Given the description of an element on the screen output the (x, y) to click on. 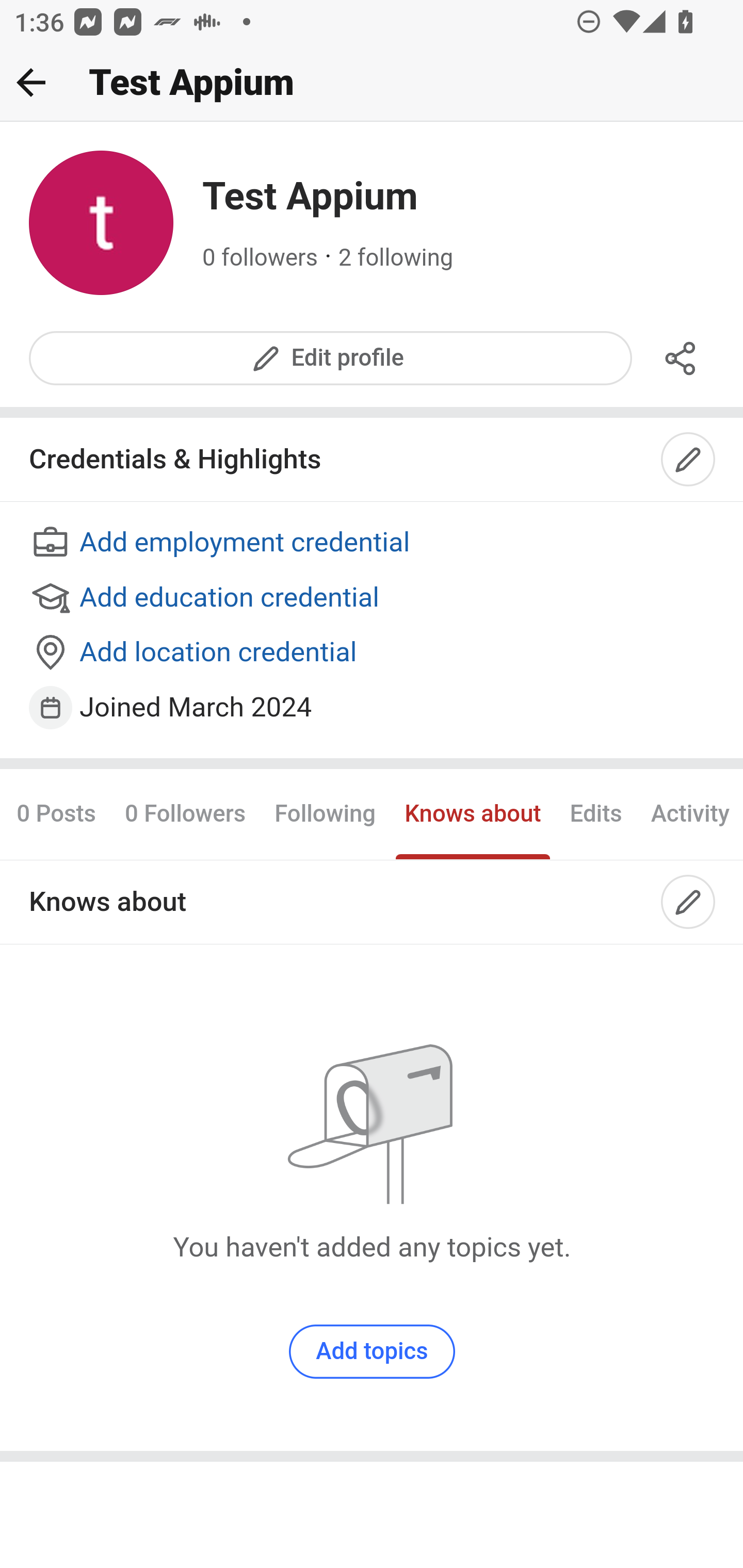
Back (30, 82)
Back (30, 82)
0 followers (260, 257)
2 following (395, 257)
Share (681, 358)
Edit profile (330, 357)
Edit credentials (688, 459)
Add employment credential (372, 543)
Add education credential (372, 598)
Add location credential (372, 653)
0 Posts (63, 813)
0 Followers (184, 813)
Following (325, 813)
Knows about (473, 813)
Edits (595, 813)
Activity (689, 813)
Edit topics you know about (688, 901)
Add topics (371, 1351)
